Given the description of an element on the screen output the (x, y) to click on. 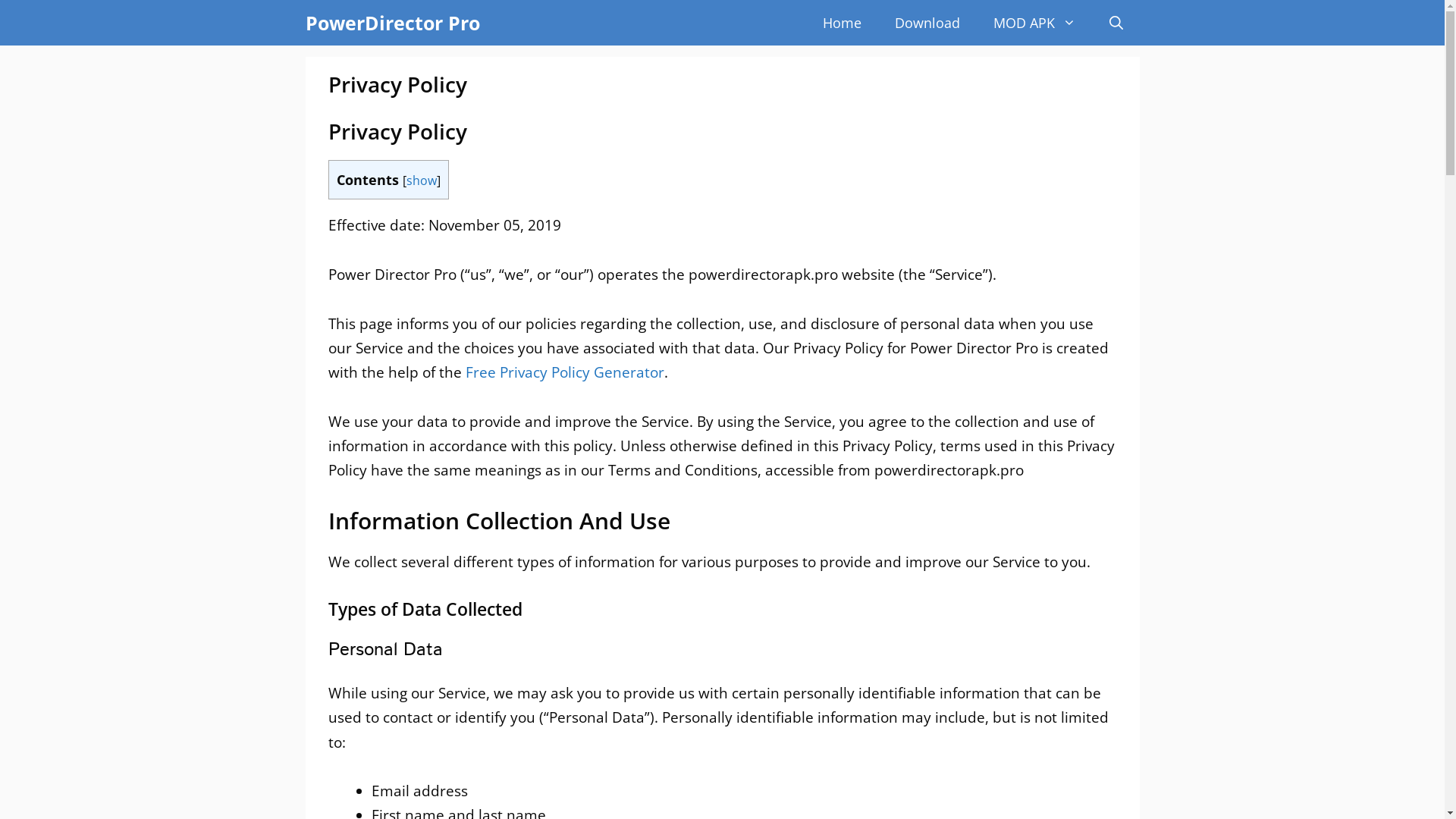
show Element type: text (421, 180)
Download Element type: text (927, 22)
PowerDirector Pro Element type: text (391, 22)
MOD APK Element type: text (1034, 22)
Home Element type: text (841, 22)
Free Privacy Policy Generator Element type: text (564, 372)
